Given the description of an element on the screen output the (x, y) to click on. 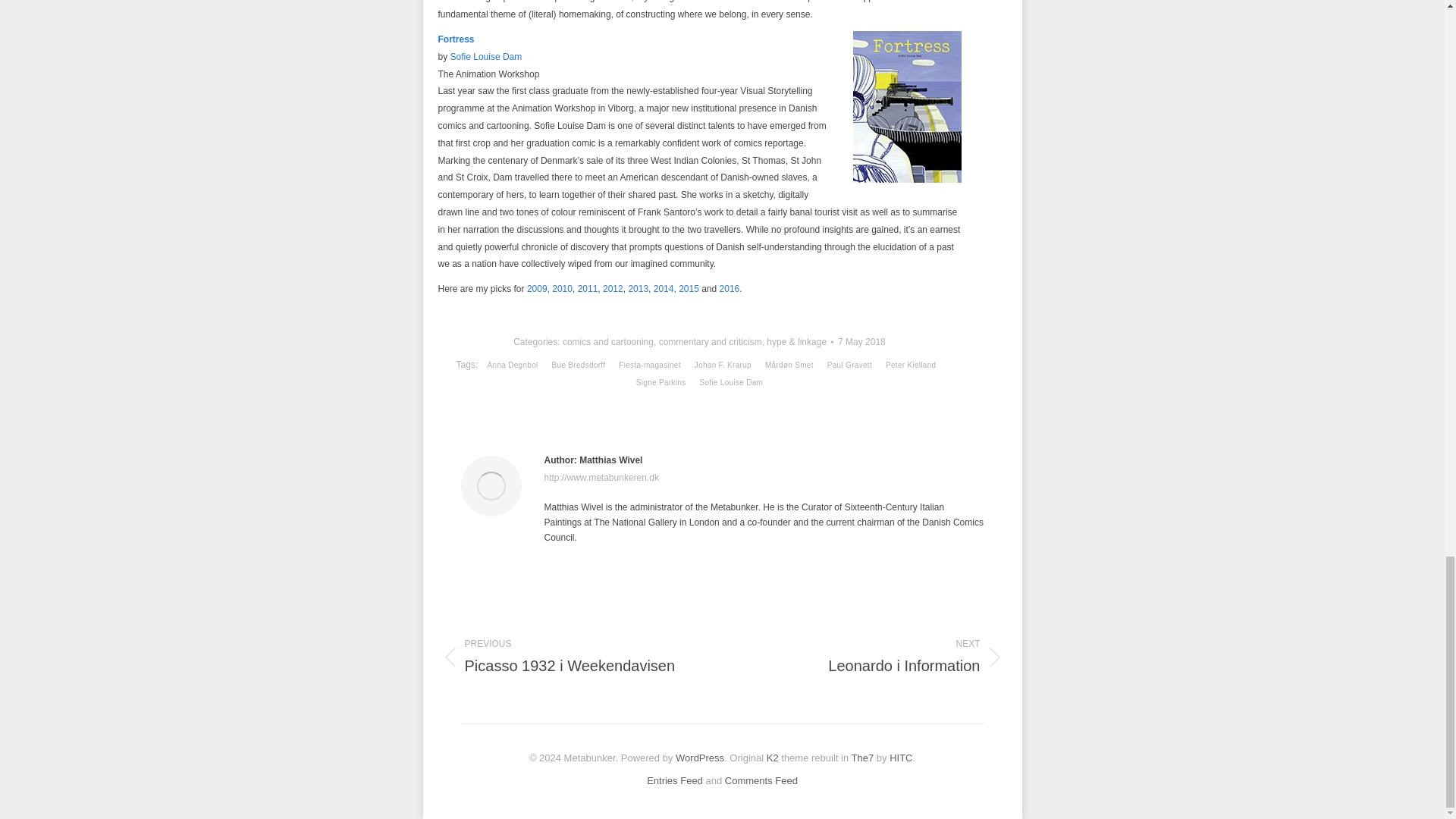
Sofie Louise Dam (485, 56)
2012 (612, 288)
2014 (663, 288)
2010 (561, 288)
Fortress (456, 39)
2011 (588, 288)
2013 (637, 288)
23:20 (861, 341)
2009 (537, 288)
